Given the description of an element on the screen output the (x, y) to click on. 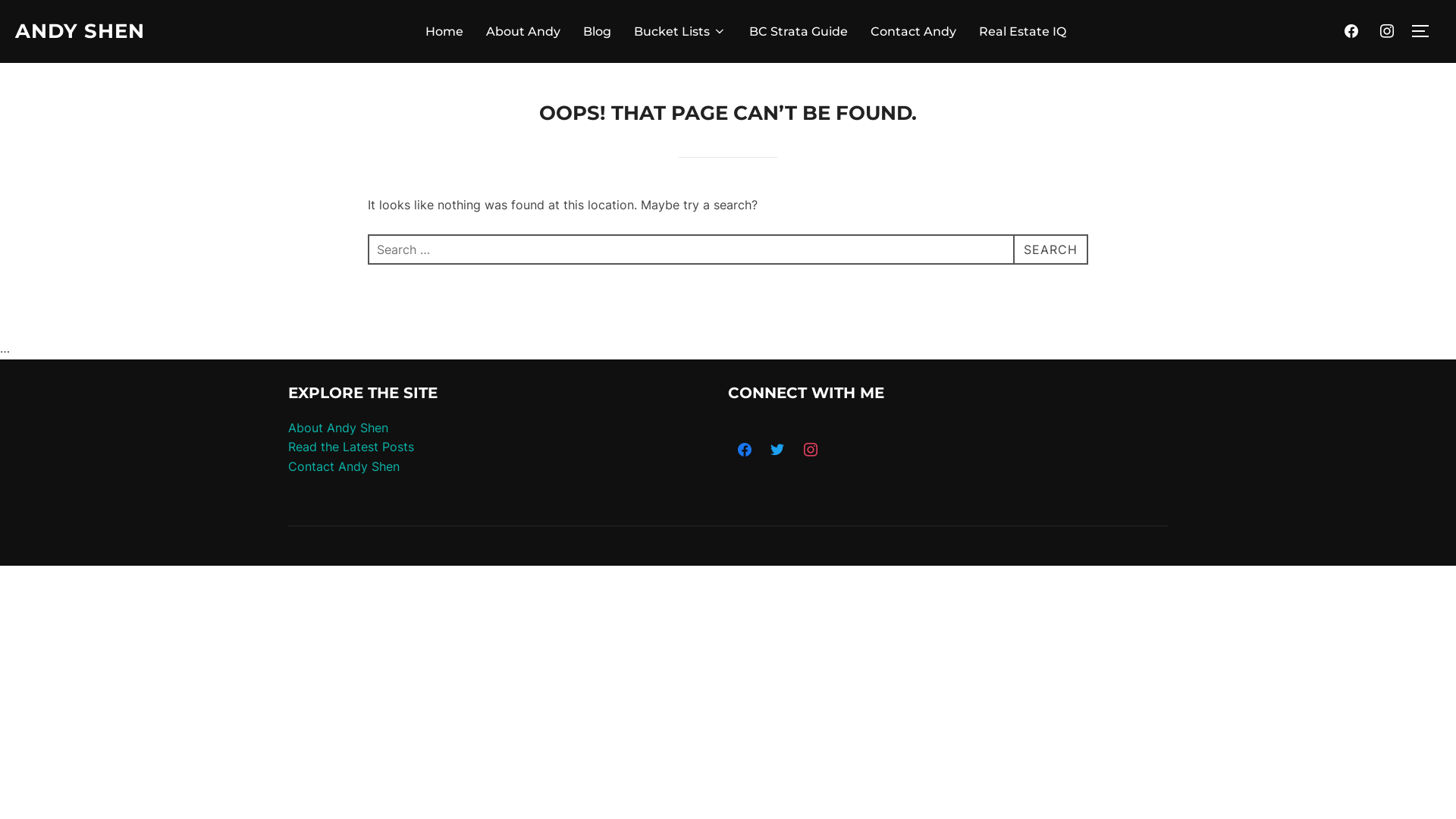
instagram Element type: text (1386, 29)
Home Element type: text (444, 30)
Contact Andy Element type: text (913, 30)
SEARCH Element type: text (1050, 249)
Contact Andy Shen Element type: text (343, 465)
Twitter Element type: hover (777, 450)
TOGGLE SIDEBAR & NAVIGATION Element type: text (1425, 30)
Real Estate IQ Element type: text (1022, 30)
About Andy Shen Element type: text (338, 427)
Facebook Element type: hover (744, 450)
Read the Latest Posts Element type: text (351, 446)
About Andy Element type: text (523, 30)
ANDY SHEN Element type: text (79, 31)
BC Strata Guide Element type: text (798, 30)
Instagram Element type: hover (810, 450)
Blog Element type: text (597, 30)
Bucket Lists Element type: text (679, 30)
facebook Element type: text (1351, 29)
